Given the description of an element on the screen output the (x, y) to click on. 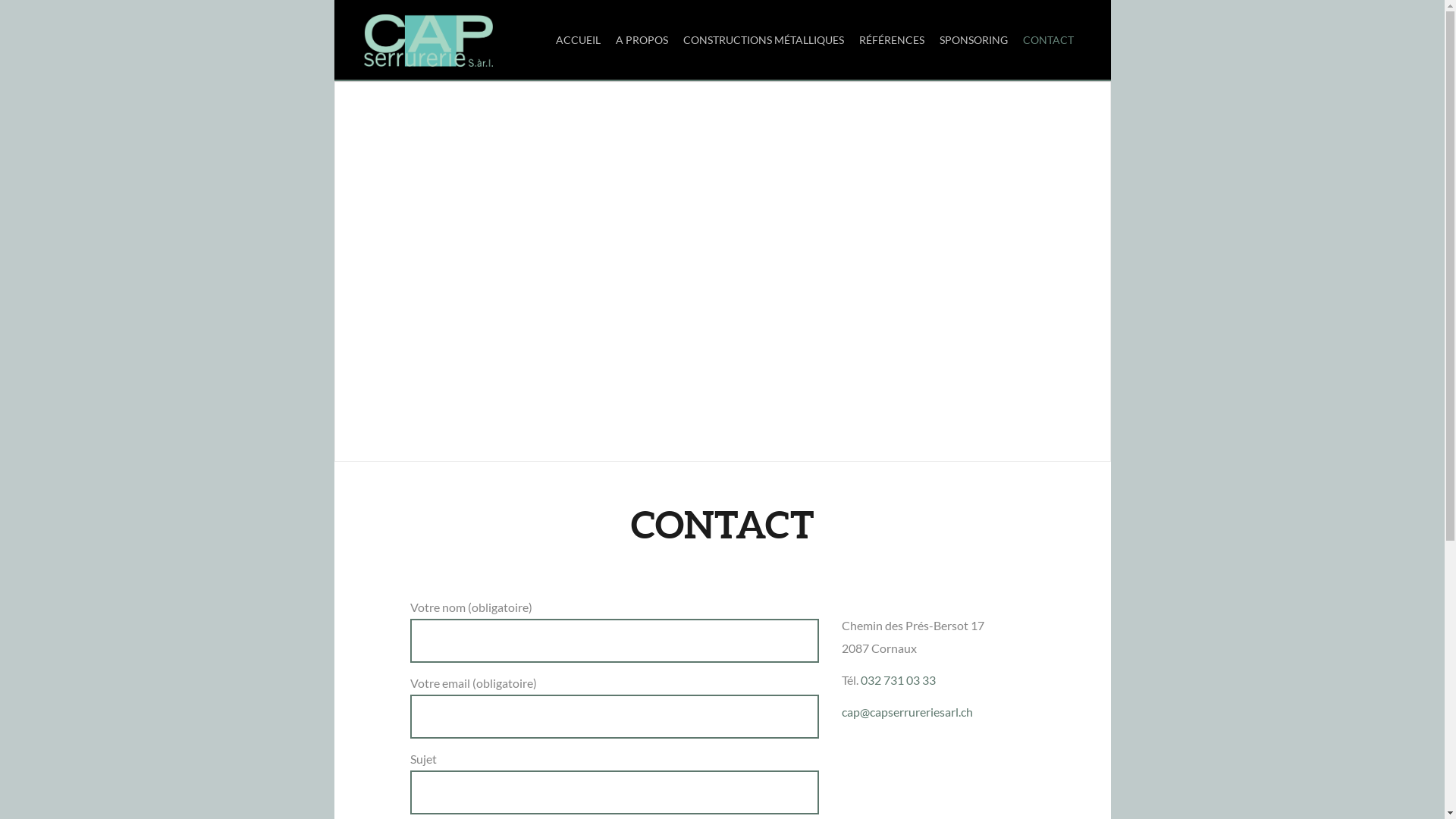
ACCUEIL Element type: text (577, 39)
032 731 03 33 Element type: text (897, 679)
A PROPOS Element type: text (641, 39)
SPONSORING Element type: text (972, 39)
CONTACT Element type: text (1047, 39)
cap@capserrureriesarl.ch Element type: text (906, 711)
